Given the description of an element on the screen output the (x, y) to click on. 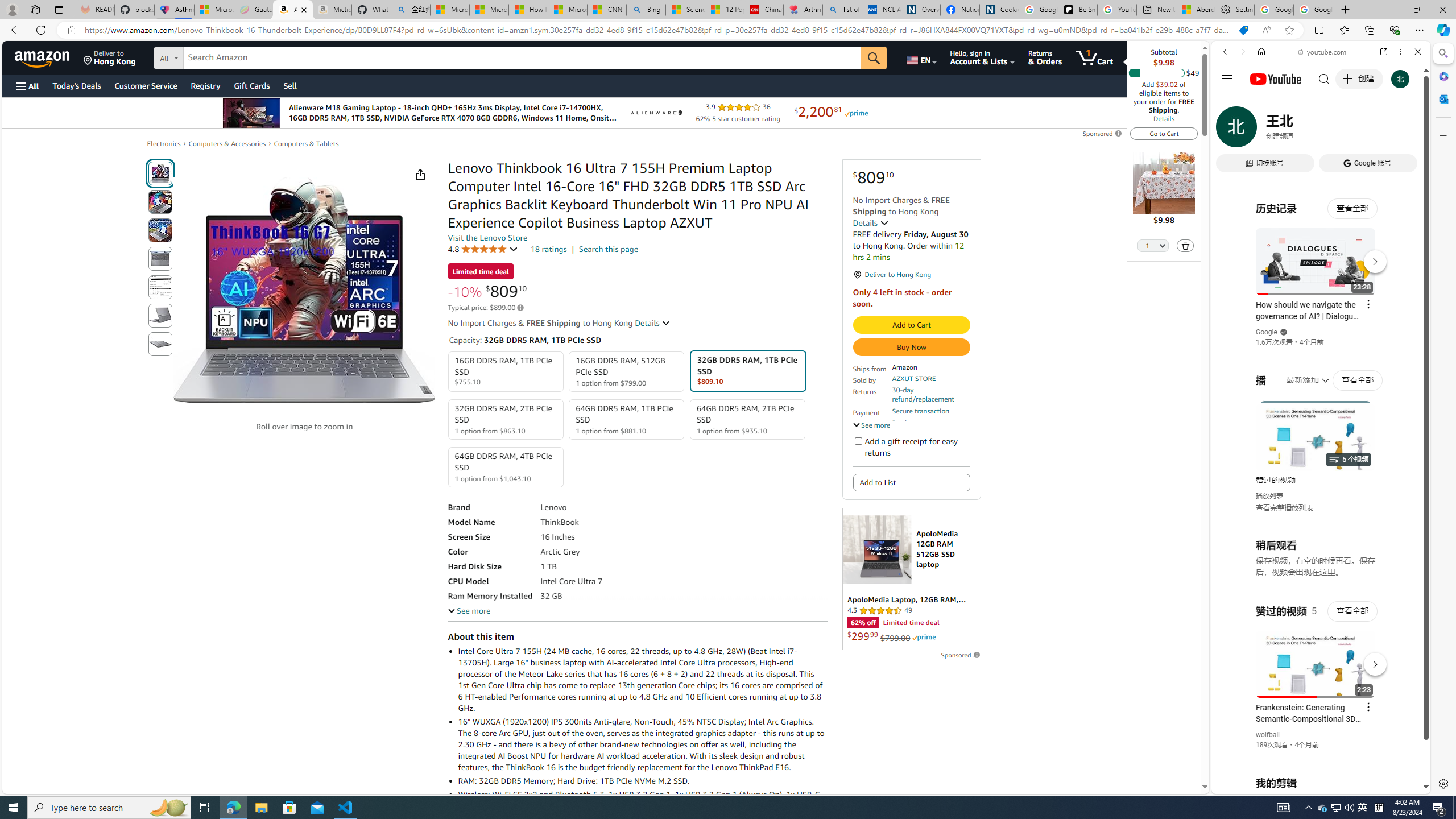
1 item in cart (1094, 57)
Be Smart | creating Science videos | Patreon (1077, 9)
Visit the Lenovo Store (486, 237)
Electronics (163, 144)
Hello, sign in Account & Lists (982, 57)
AZXUT STORE (913, 378)
